Given the description of an element on the screen output the (x, y) to click on. 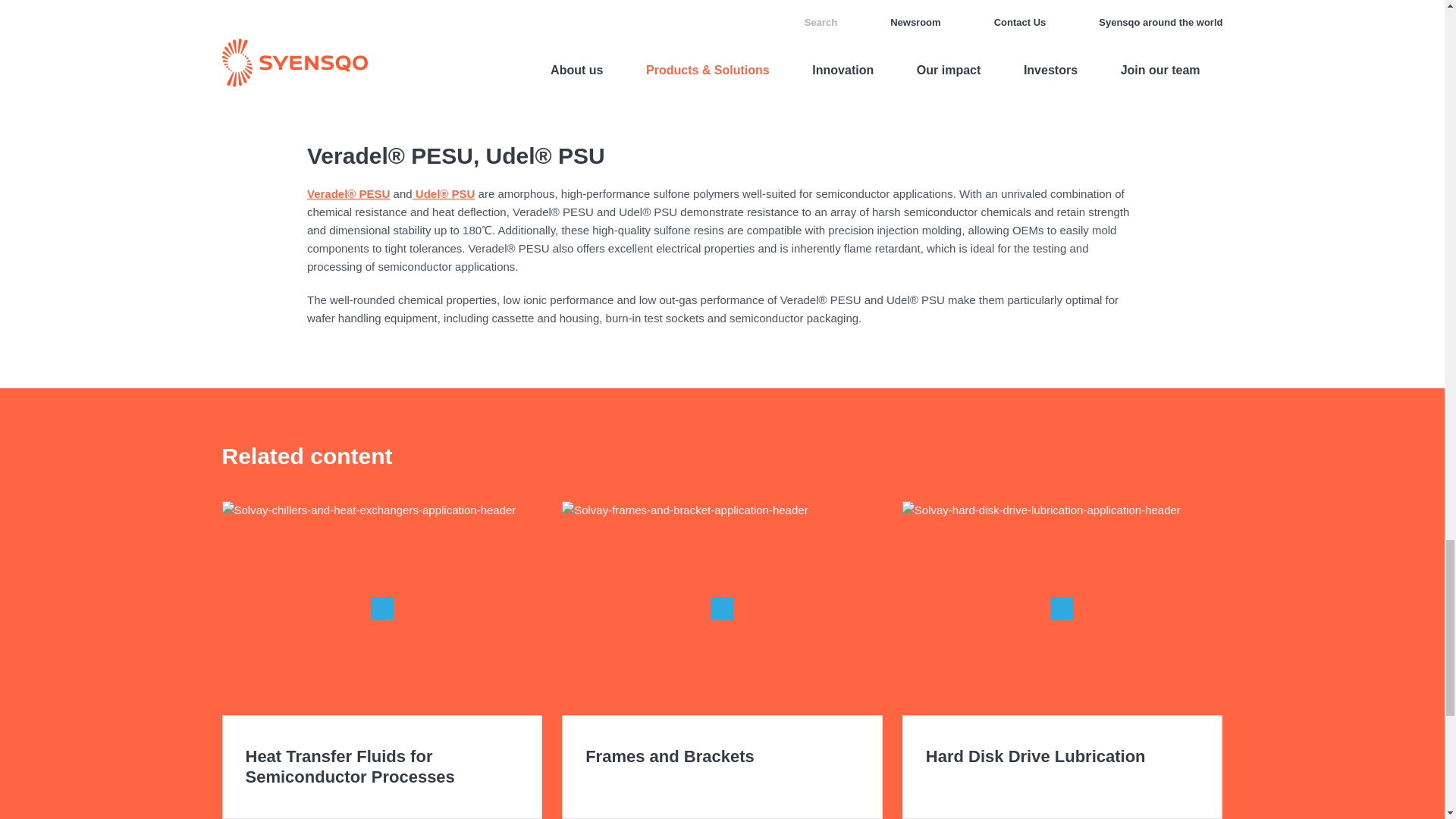
Solvay-chillers-and-heat-exchangers-application-header (381, 607)
Solvay-hard-disk-drive-lubrication-application-header (1062, 607)
Solvay-frames-and-bracket-application-header (722, 607)
